Given the description of an element on the screen output the (x, y) to click on. 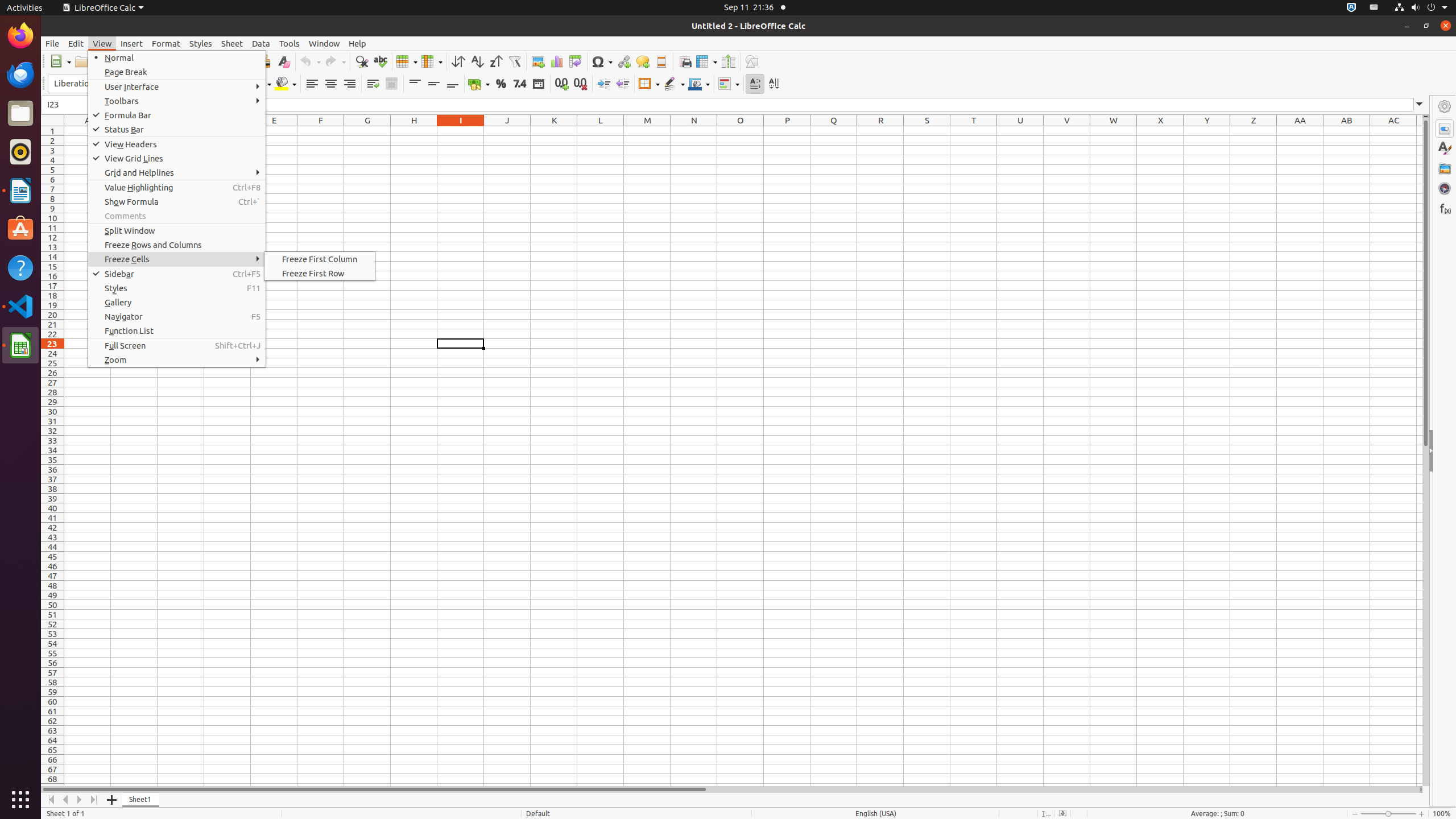
Sheet Element type: menu (231, 43)
Draw Functions Element type: toggle-button (751, 61)
P1 Element type: table-cell (786, 130)
